Given the description of an element on the screen output the (x, y) to click on. 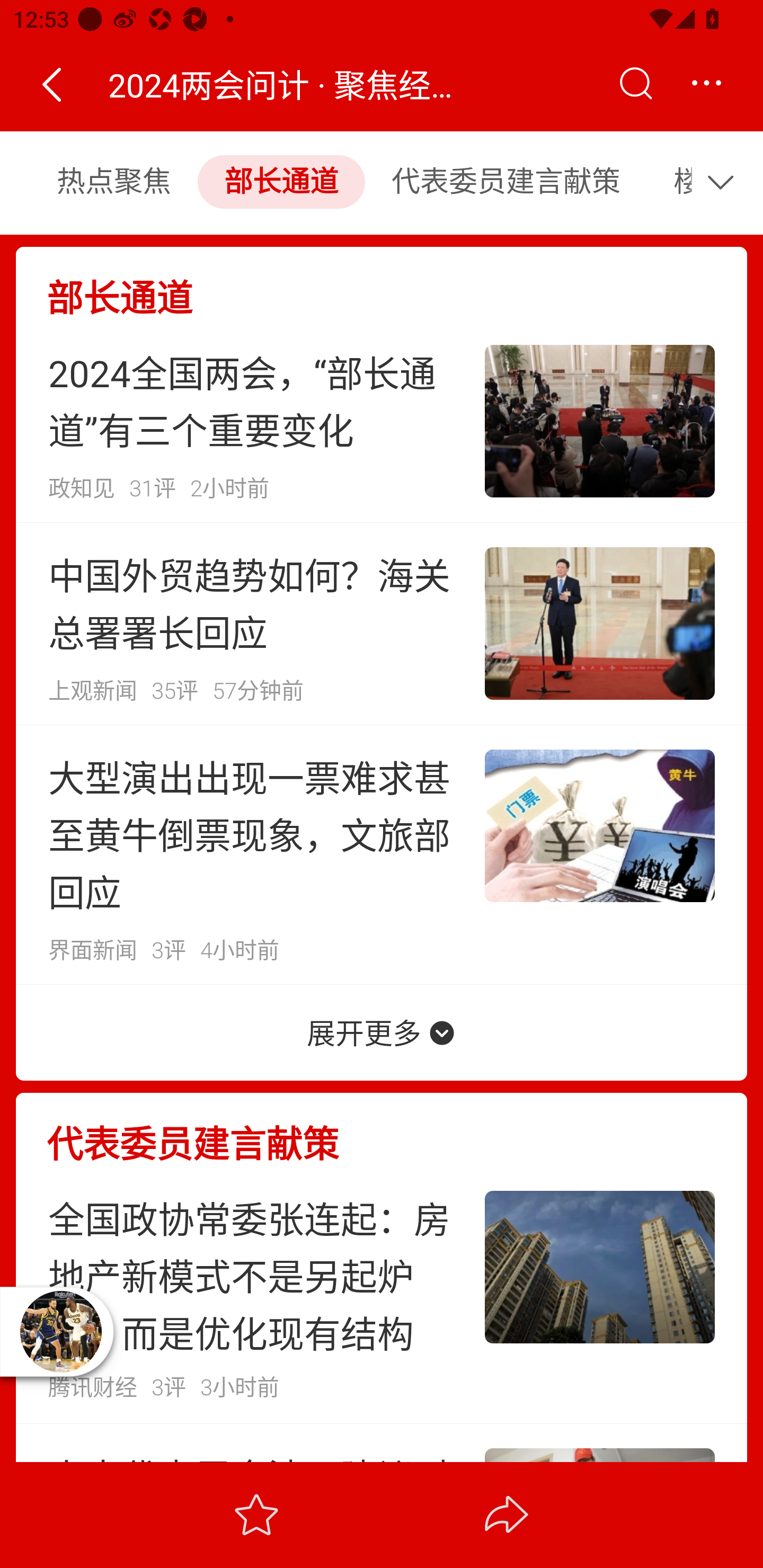
 (50, 83)
 (634, 83)
 (705, 83)
热点聚焦 (113, 181)
部长通道 (280, 181)
代表委员建言献策 (505, 181)
 (724, 181)
部长通道 (381, 282)
2024全国两会，“部长通道”有三个重要变化 政知见 31评 2小时前 (381, 420)
中国外贸趋势如何？海关总署署长回应 上观新闻 35评 57分钟前 (381, 623)
大型演出出现一票难求甚至黄牛倒票现象，文旅部回应 界面新闻 3评 4小时前 (381, 854)
展开更多  (381, 1032)
代表委员建言献策 (381, 1129)
全国政协常委张连起：房地产新模式不是另起炉灶，而是优化现有结构 腾讯财经 3评 3小时前 (381, 1294)
播放器 (60, 1331)
收藏  (255, 1514)
分享  (506, 1514)
